Given the description of an element on the screen output the (x, y) to click on. 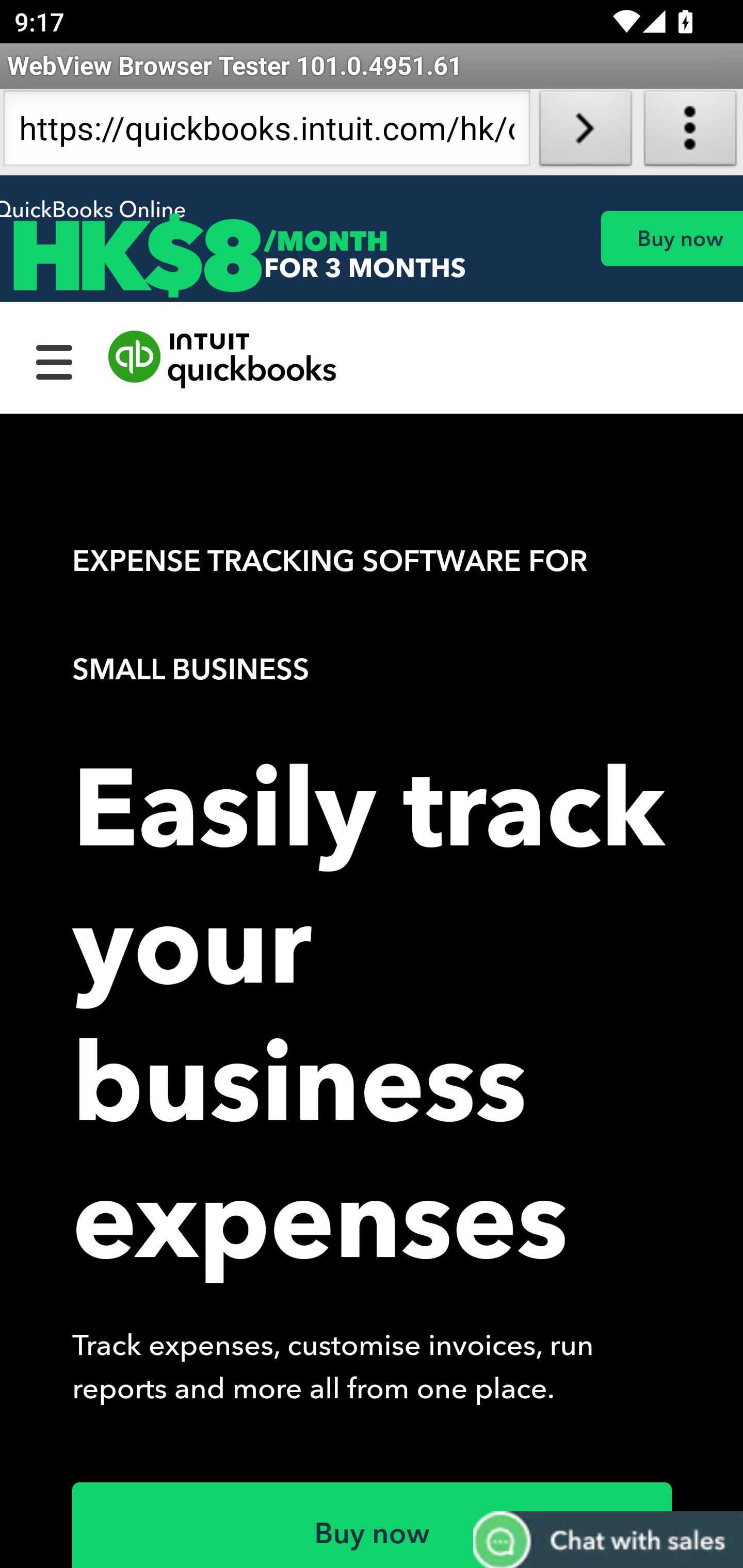
Load URL (585, 132)
About WebView (690, 132)
Buy now (671, 238)
quickbooks-mobile-burger (54, 359)
quickbooks (222, 359)
Buy now (372, 1524)
